Given the description of an element on the screen output the (x, y) to click on. 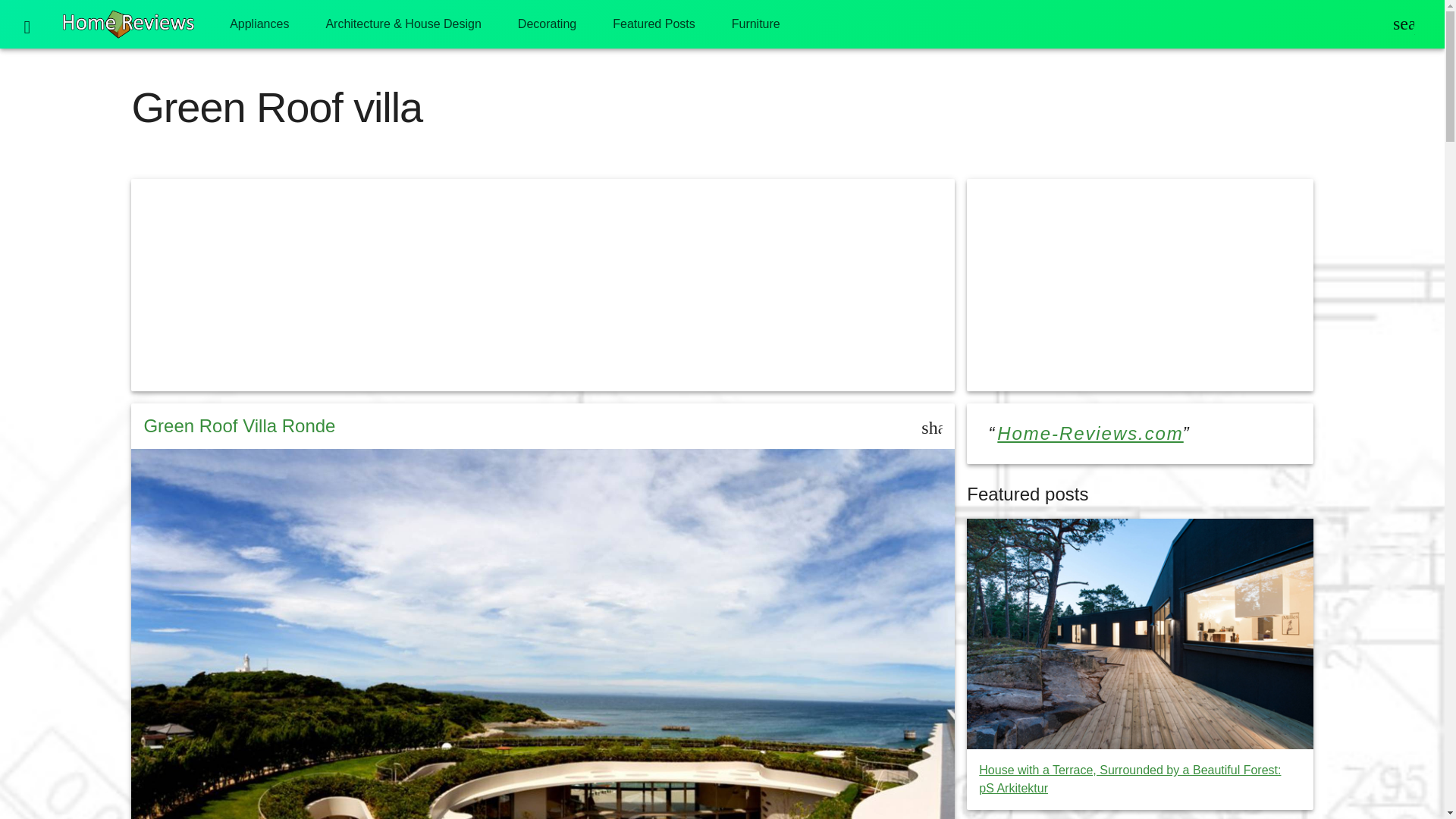
Advertisement (1139, 285)
Home Reviews (128, 24)
Decorating (546, 24)
Appliances (259, 24)
